Given the description of an element on the screen output the (x, y) to click on. 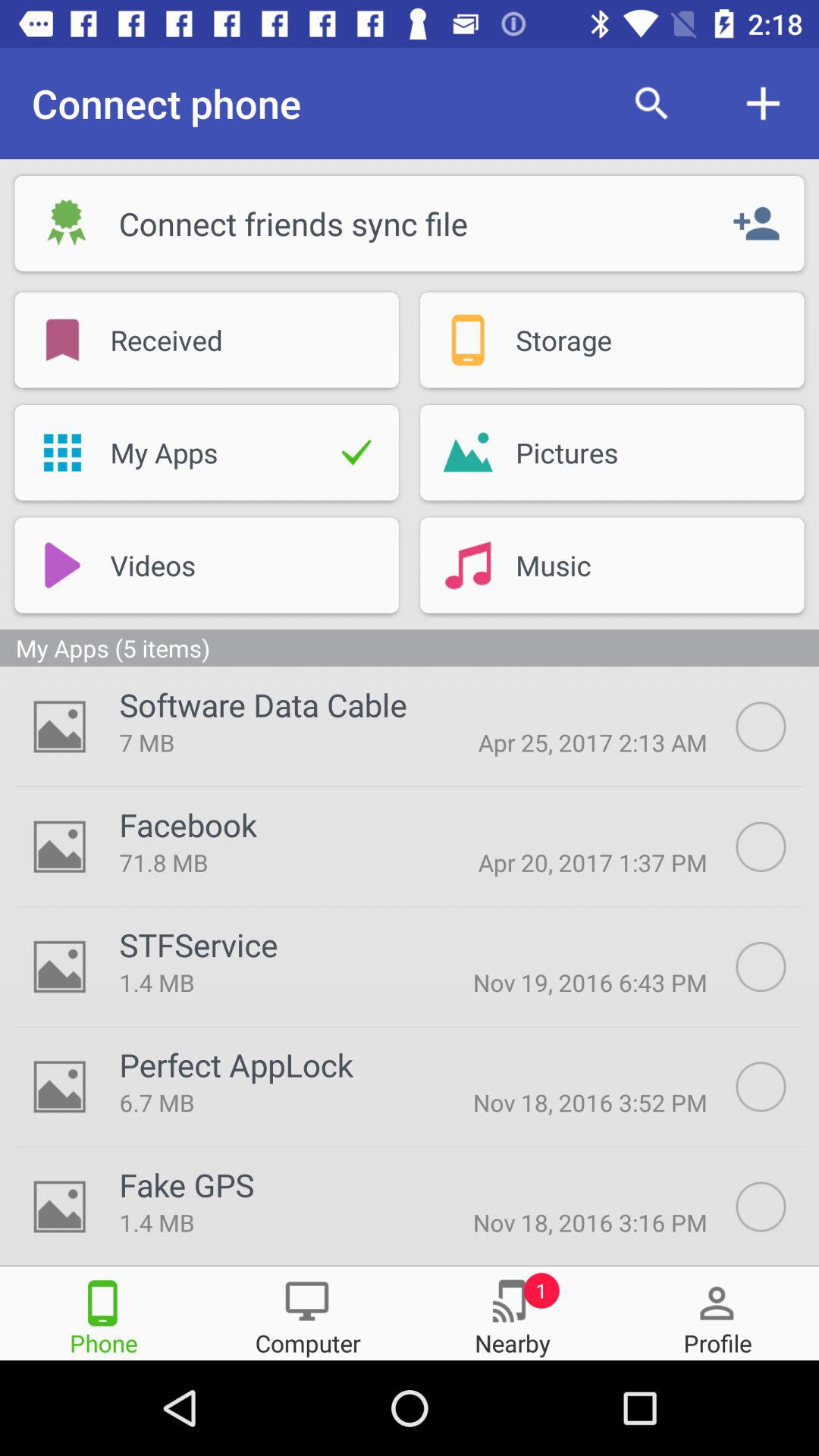
choose icon next to storage app (467, 339)
